Given the description of an element on the screen output the (x, y) to click on. 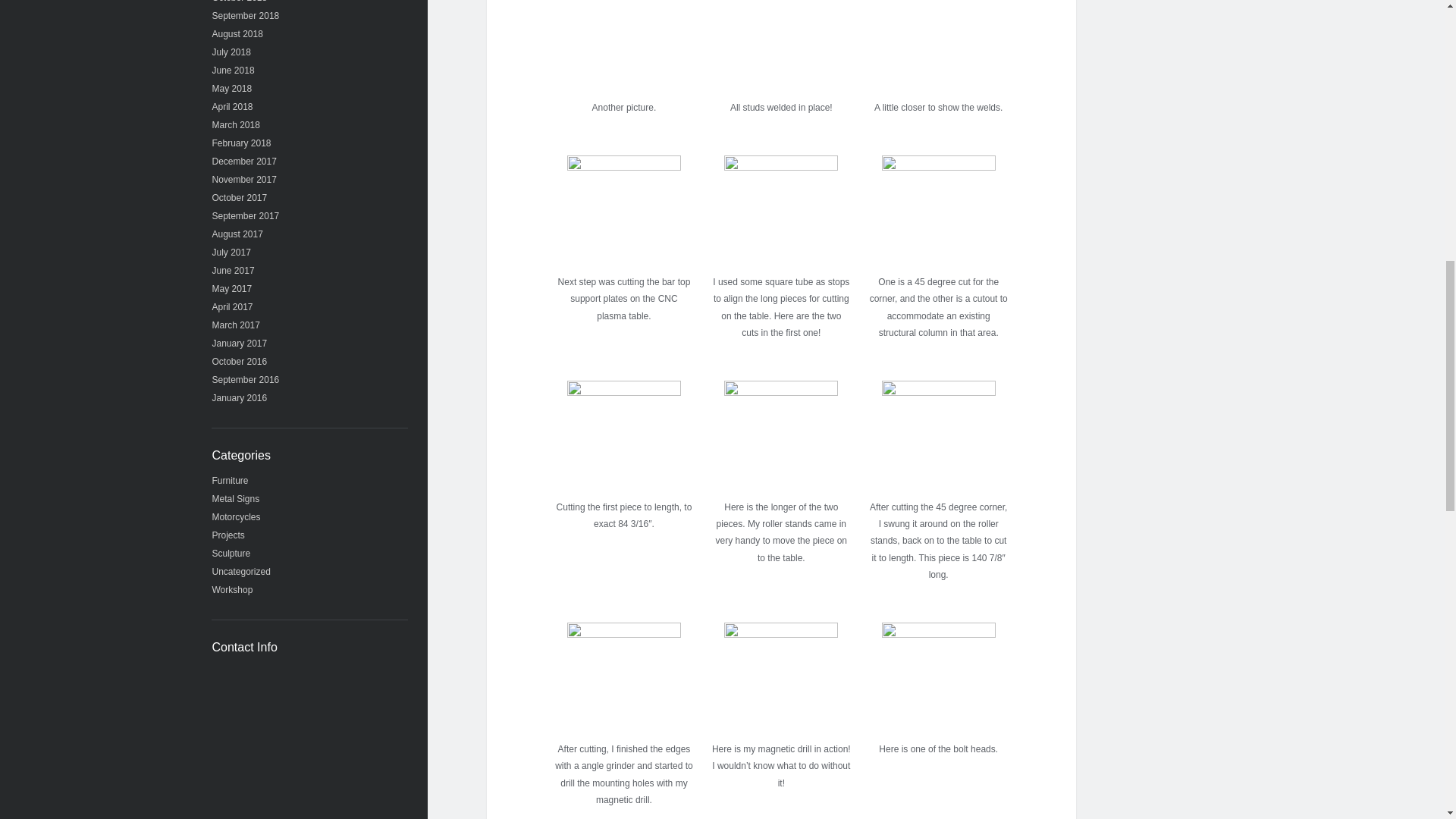
March 2018 (236, 124)
April 2018 (232, 106)
Google Map Embed (309, 742)
September 2018 (245, 15)
June 2018 (233, 70)
August 2018 (237, 33)
February 2018 (241, 143)
October 2018 (239, 1)
May 2018 (231, 88)
July 2018 (231, 51)
